Given the description of an element on the screen output the (x, y) to click on. 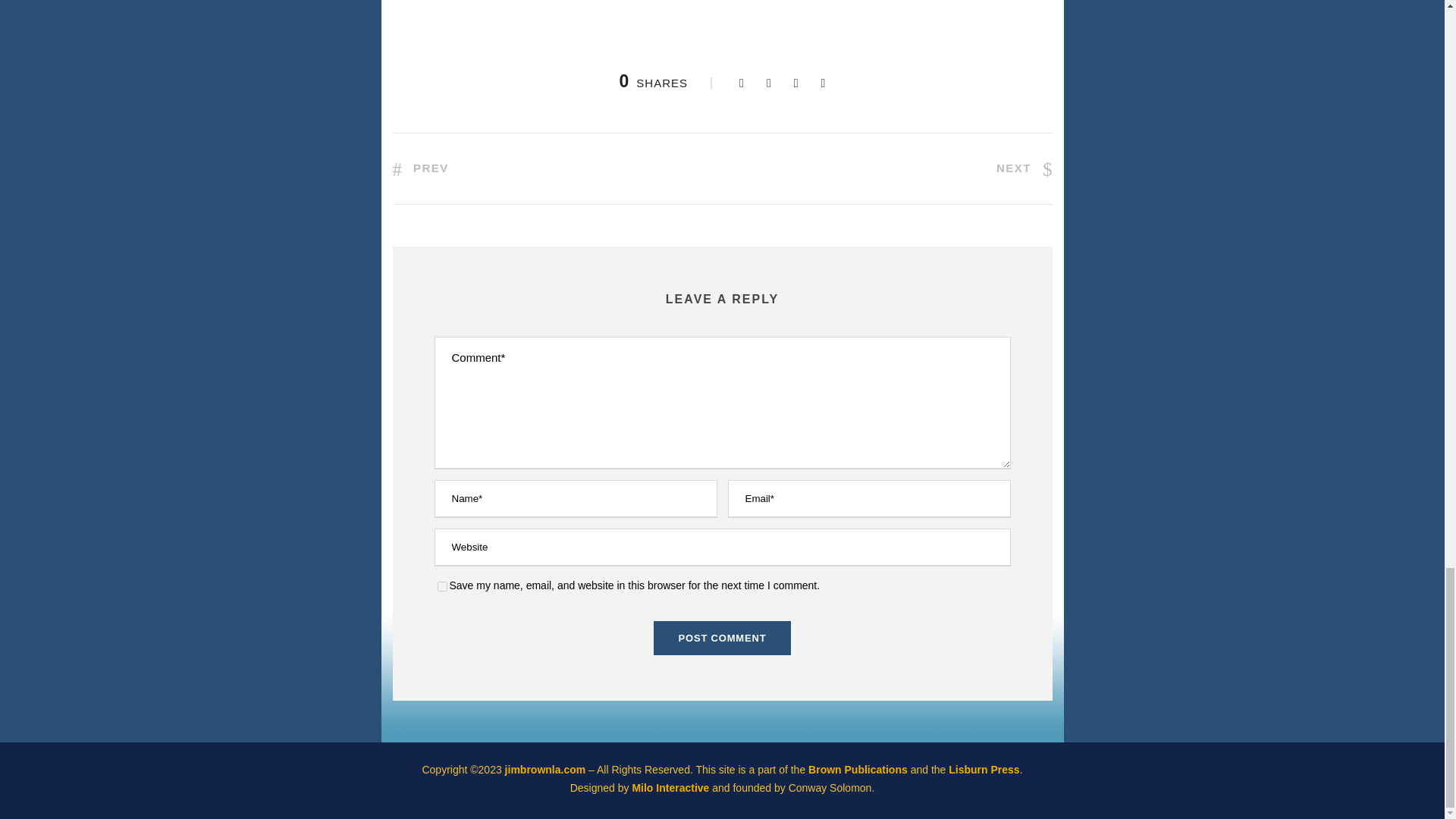
Post Comment (722, 637)
Milo Interactive  (671, 787)
yes (441, 586)
PREV (420, 168)
Brown Publications (857, 769)
NEXT (1023, 168)
Lisburn Press (984, 769)
jimbrownla.com (545, 769)
Post Comment (722, 637)
